Given the description of an element on the screen output the (x, y) to click on. 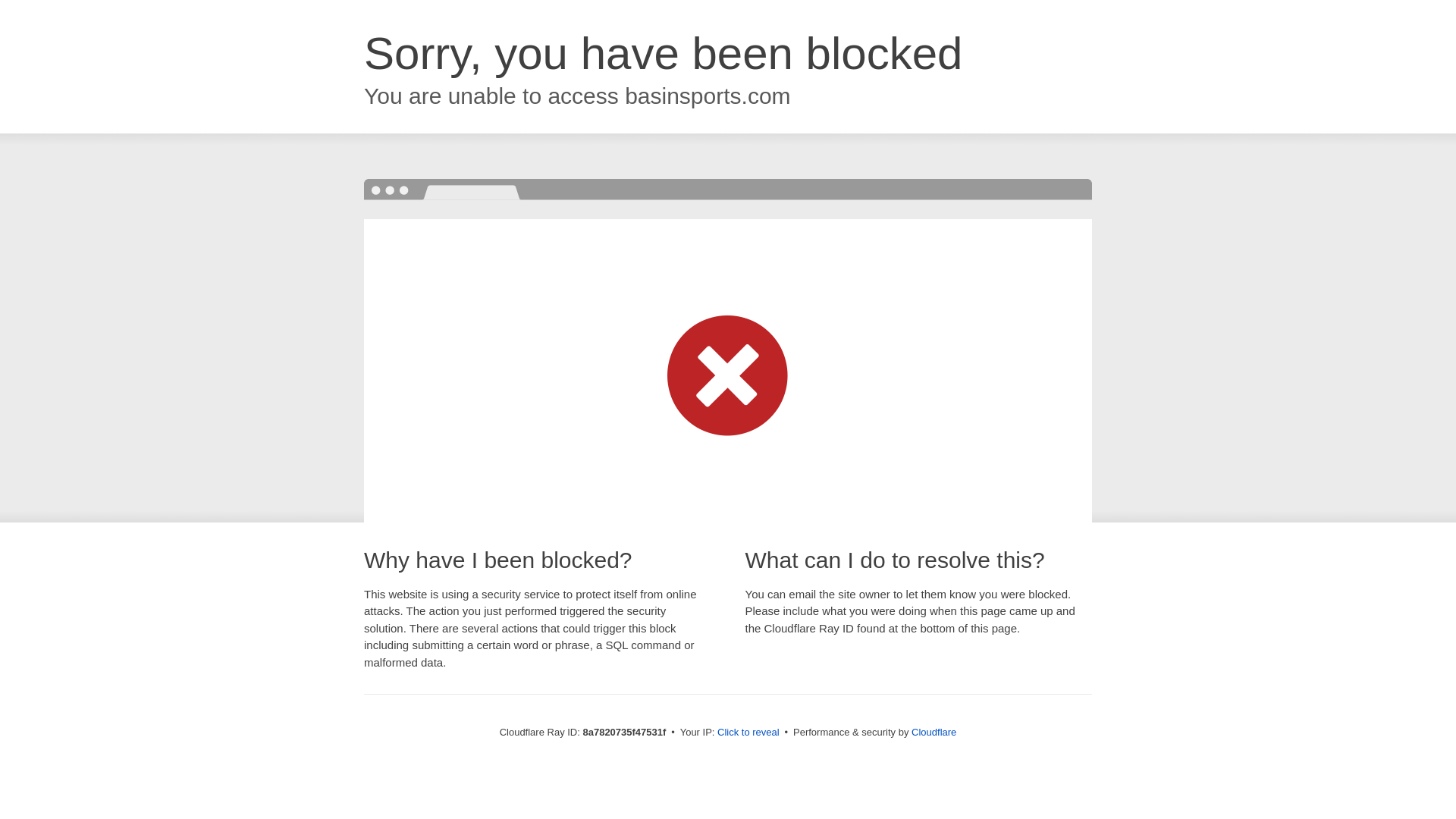
Click to reveal (747, 732)
Cloudflare (933, 731)
